Given the description of an element on the screen output the (x, y) to click on. 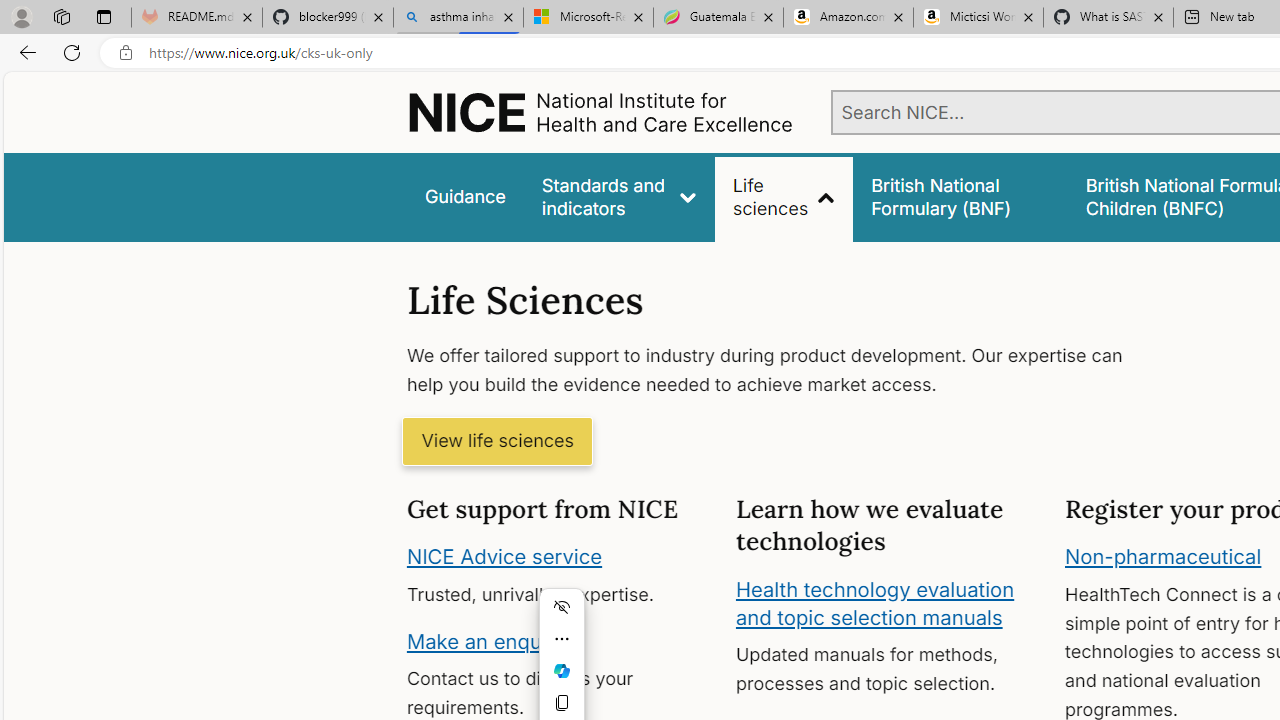
NICE Advice service (503, 557)
